Given the description of an element on the screen output the (x, y) to click on. 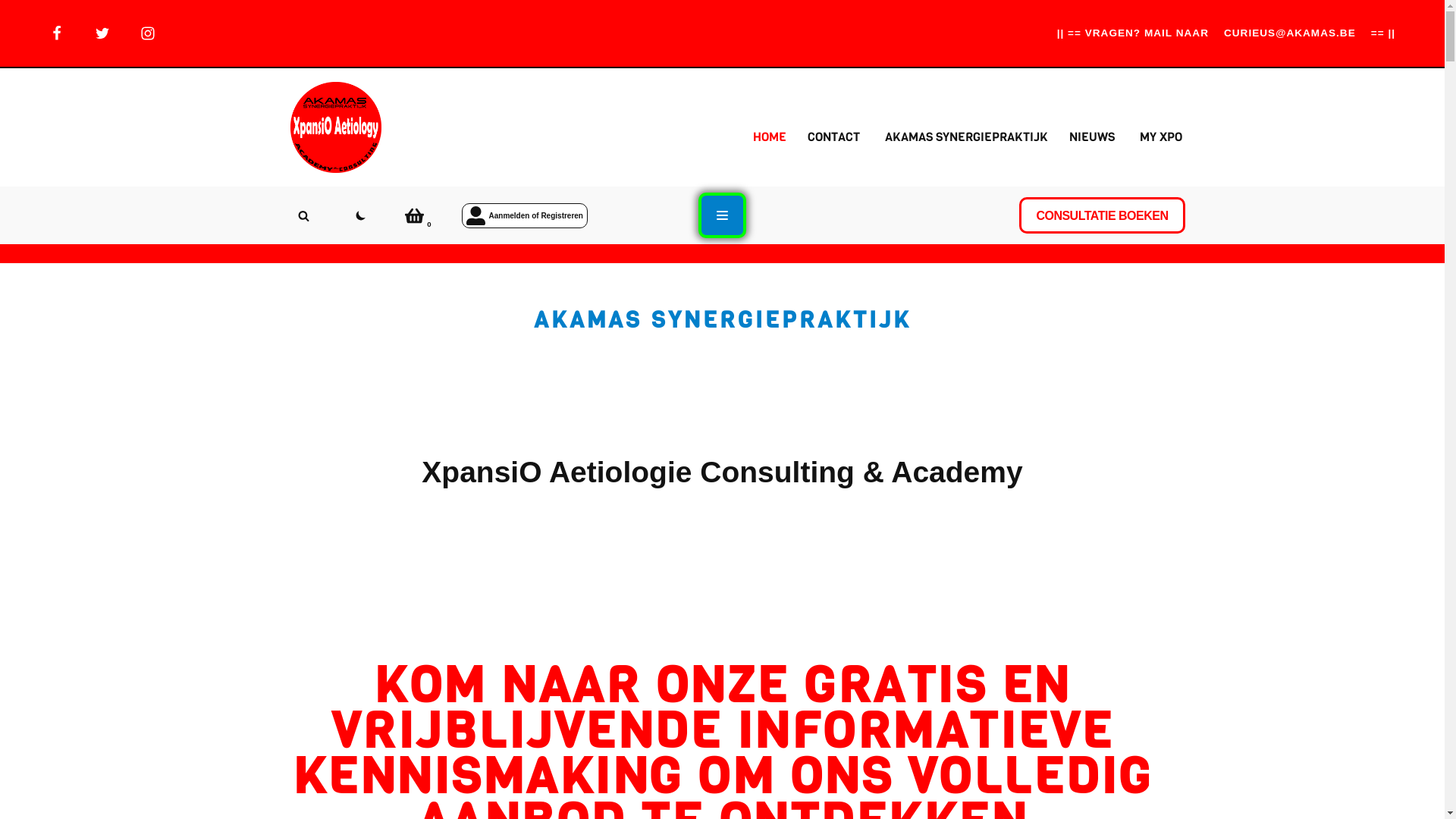
HOME Element type: text (768, 136)
CONSULTATIE BOEKEN Element type: text (1101, 215)
NIEUWS Element type: text (1091, 136)
Spring naar de inhoud Element type: text (11, 31)
sluiten en bevestigen Element type: text (1349, 32)
Facebook Element type: hover (56, 32)
MY XPO Element type: text (1160, 136)
Twitter Element type: hover (101, 32)
cookiebeleid Element type: text (334, 37)
Navigatiemenu Element type: text (722, 215)
AKAMAS SYNERGIEPRAKTIJK Element type: text (965, 136)
0 Element type: text (413, 215)
CURIEUS@AKAMAS.BE Element type: text (1289, 33)
CONTACT Element type: text (832, 136)
Aanmelden of Registreren Element type: text (523, 215)
Instagram Element type: hover (147, 32)
